Given the description of an element on the screen output the (x, y) to click on. 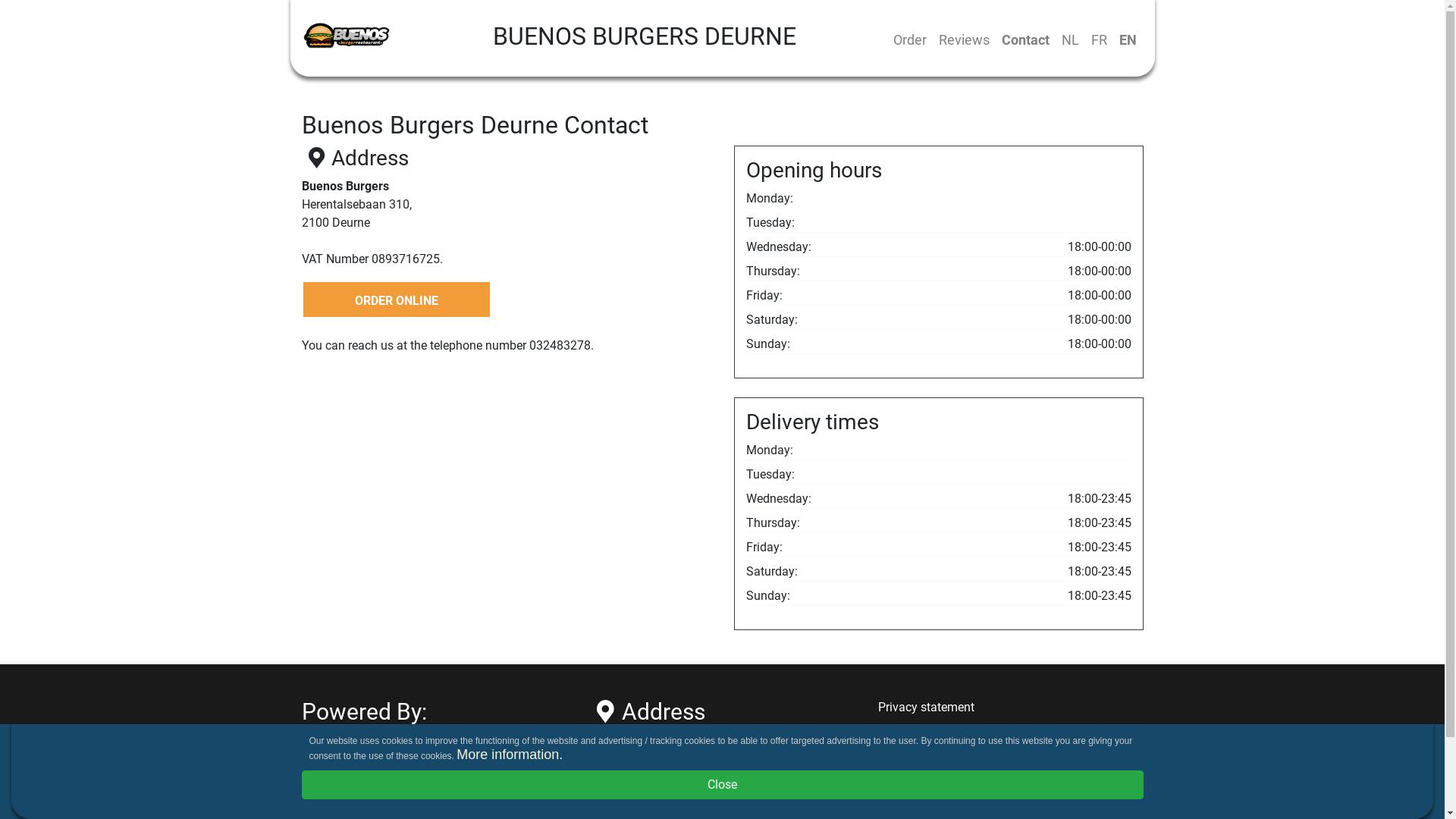
Order Element type: text (909, 39)
FR Element type: text (1098, 39)
EN Element type: text (1127, 39)
Privacy statement Element type: text (926, 706)
ORDER ONLINE Element type: text (396, 299)
More information. Element type: text (509, 754)
Contact Element type: text (1024, 39)
Close Element type: text (722, 784)
Reviews Element type: text (963, 39)
NL Element type: text (1070, 39)
